Given the description of an element on the screen output the (x, y) to click on. 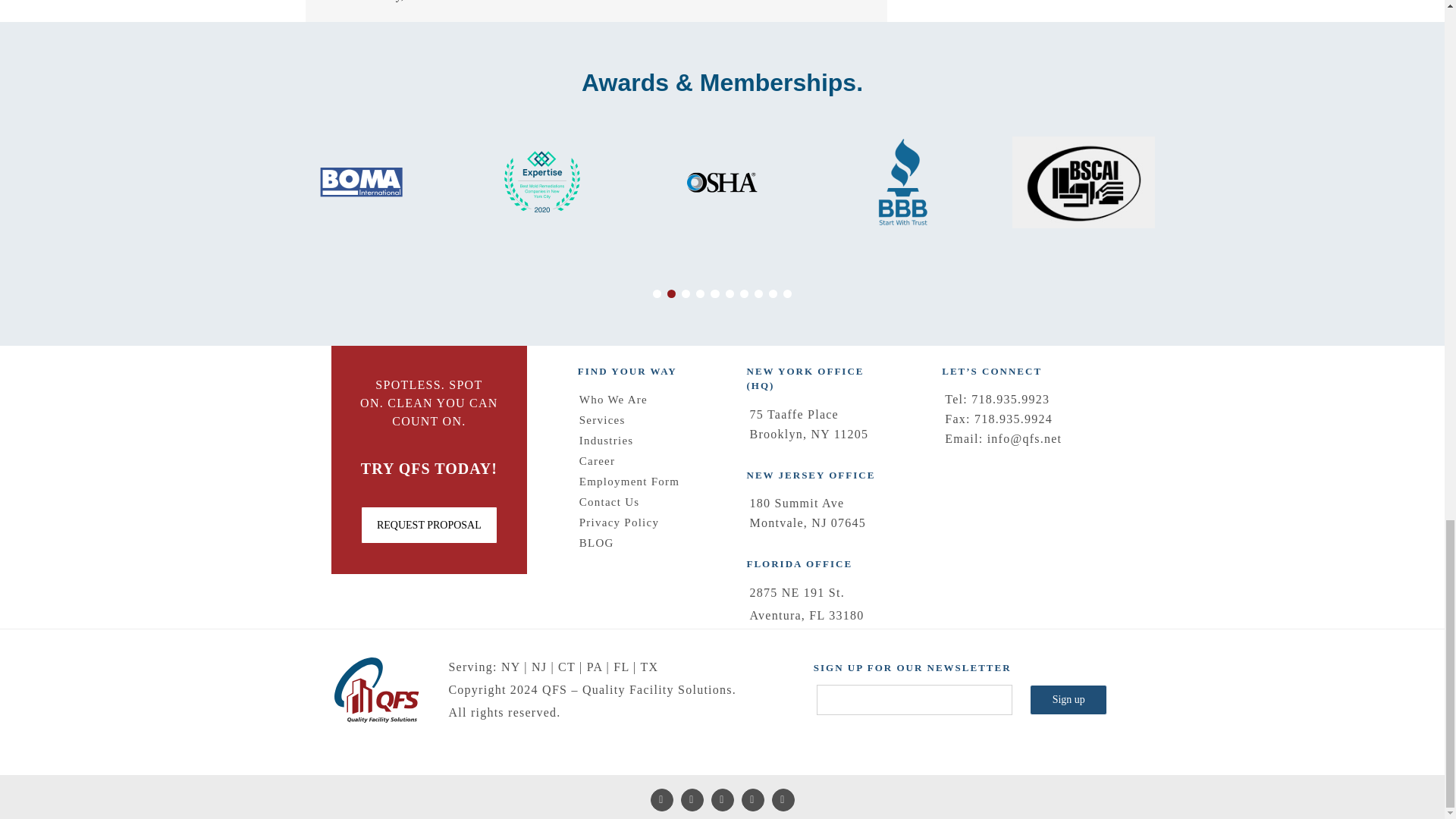
Sign up (1067, 699)
